Given the description of an element on the screen output the (x, y) to click on. 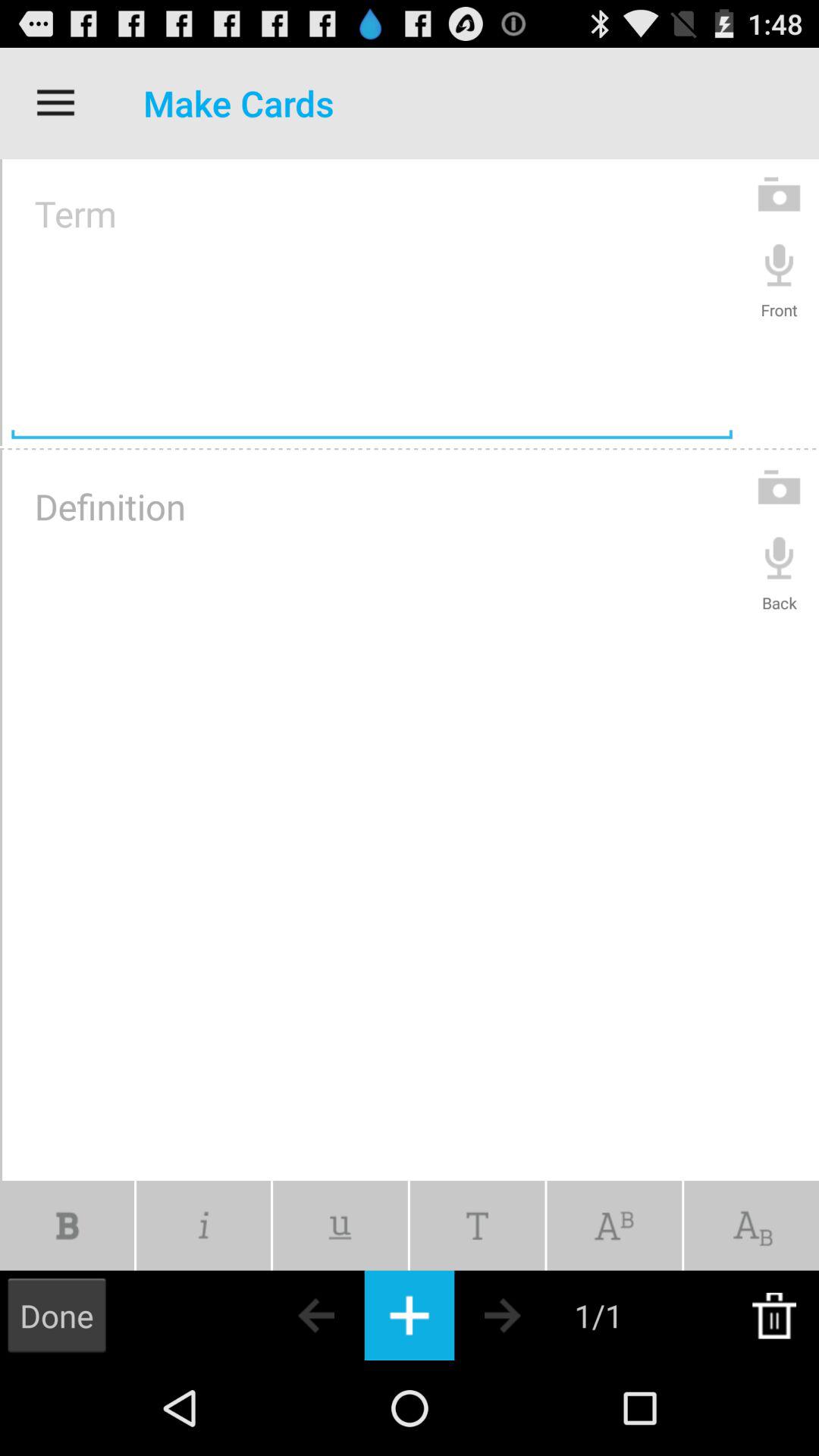
toggle the keyboard (409, 1315)
